Given the description of an element on the screen output the (x, y) to click on. 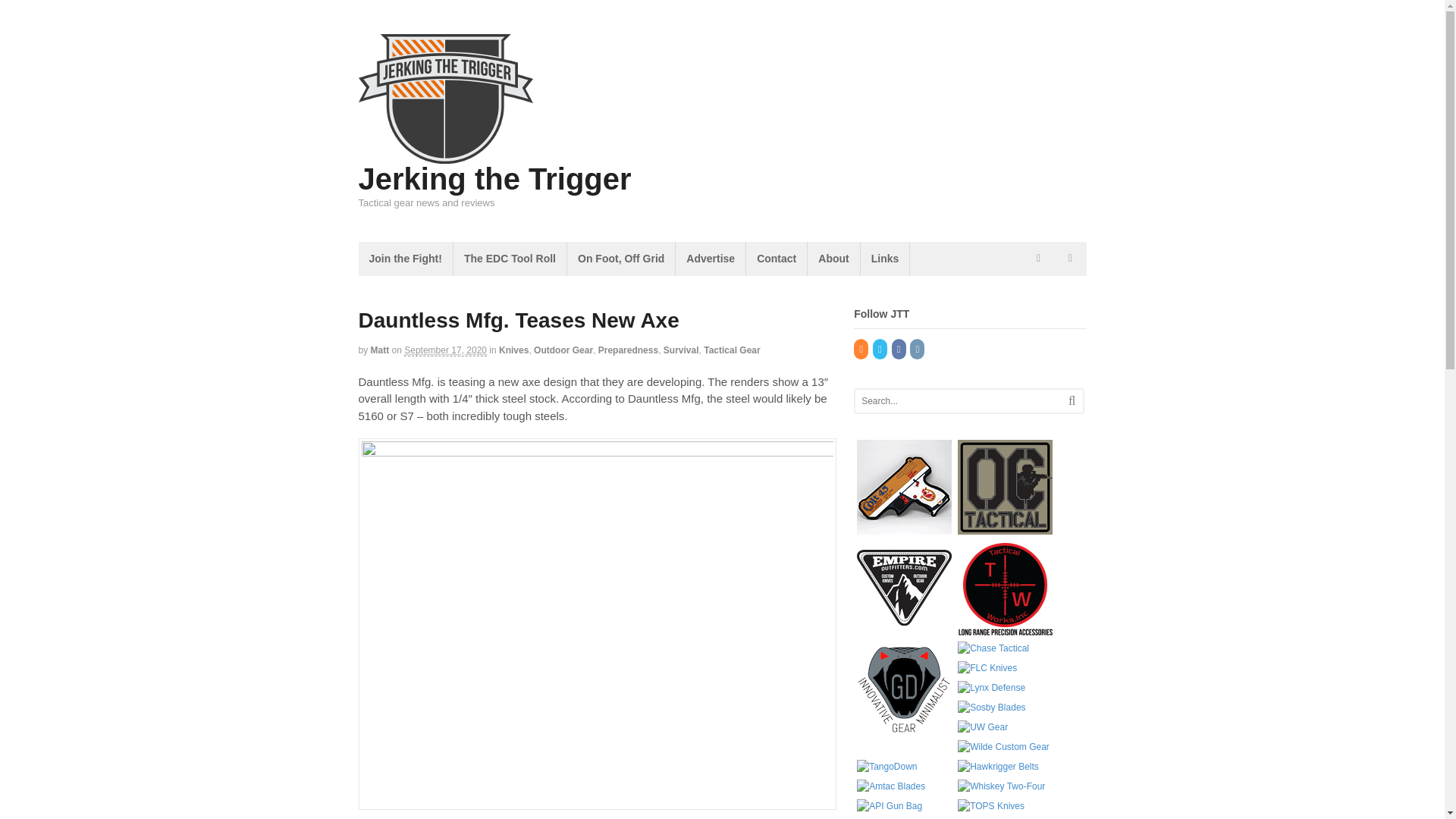
Contact (775, 258)
Search... (958, 400)
Survival (680, 349)
View all items in Outdoor Gear (563, 349)
Links (885, 258)
2020-09-17T09:04:14-0700 (445, 350)
About (833, 258)
Join the Fight! (404, 258)
The EDC Tool Roll (509, 258)
Tactical Gear (731, 349)
